Given the description of an element on the screen output the (x, y) to click on. 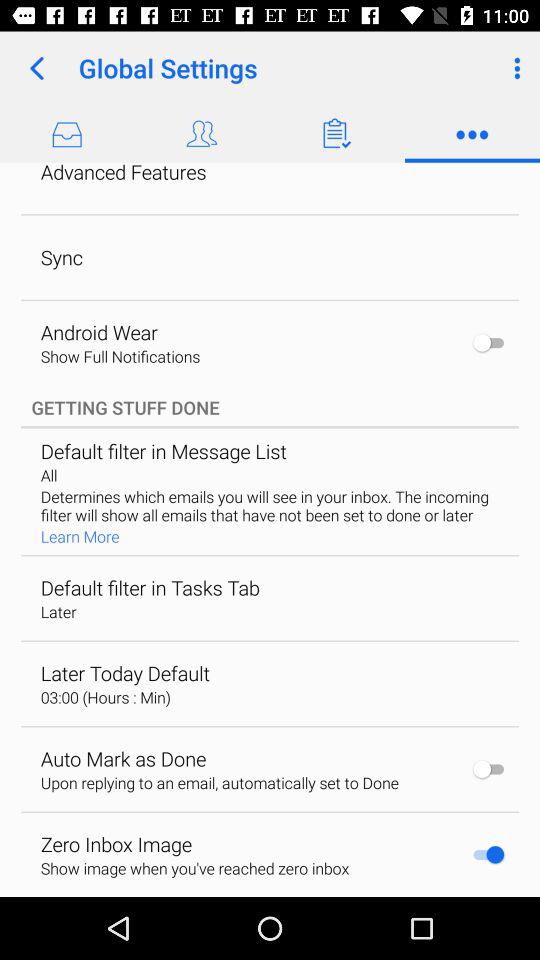
choose the item next to the global settings icon (36, 68)
